Given the description of an element on the screen output the (x, y) to click on. 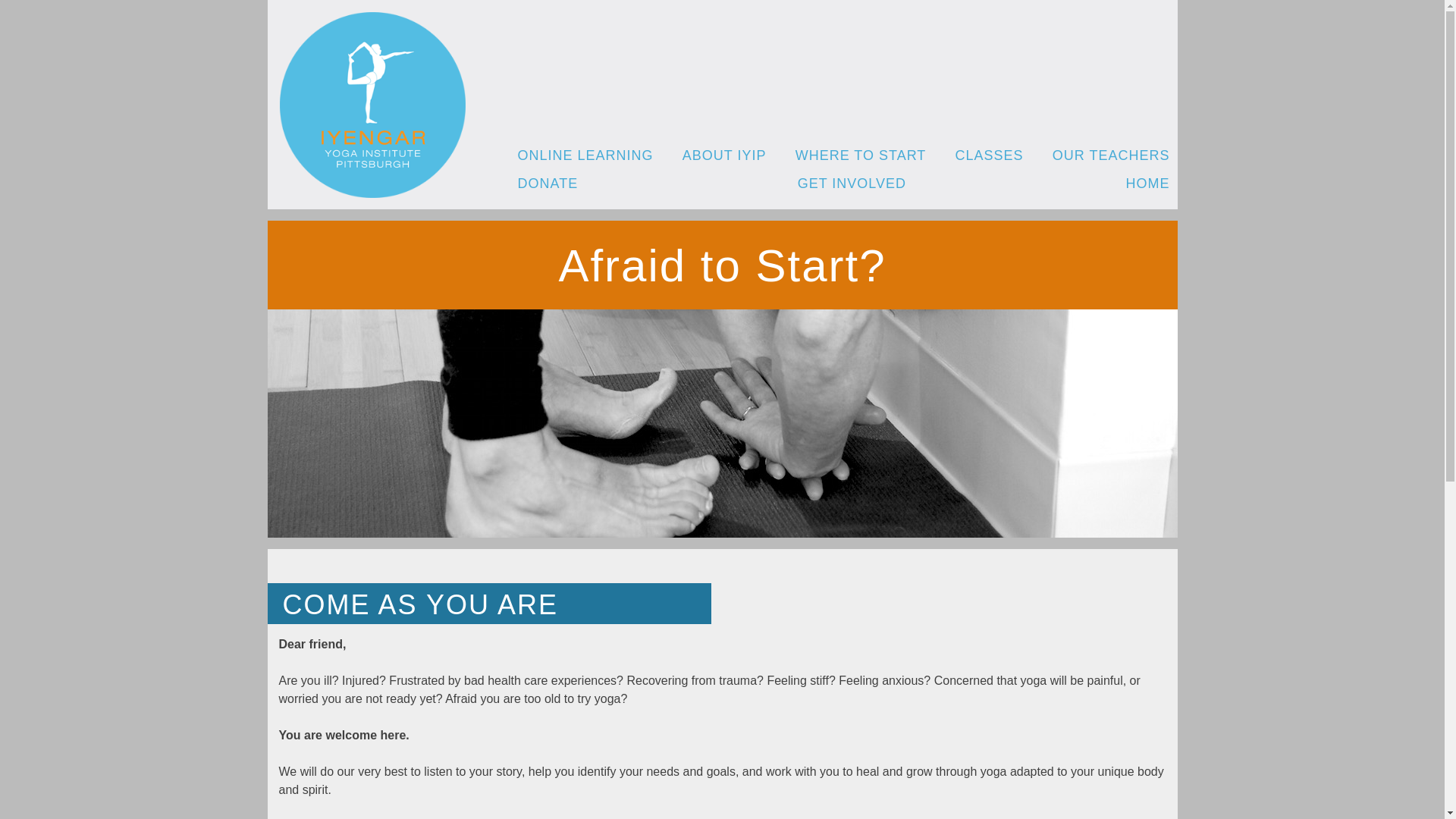
OUR TEACHERS (1111, 155)
WHERE TO START (860, 155)
CLASSES (989, 155)
GET INVOLVED (851, 183)
DONATE (547, 183)
HOME (1147, 183)
ABOUT IYIP (724, 155)
ONLINE LEARNING (584, 155)
